Given the description of an element on the screen output the (x, y) to click on. 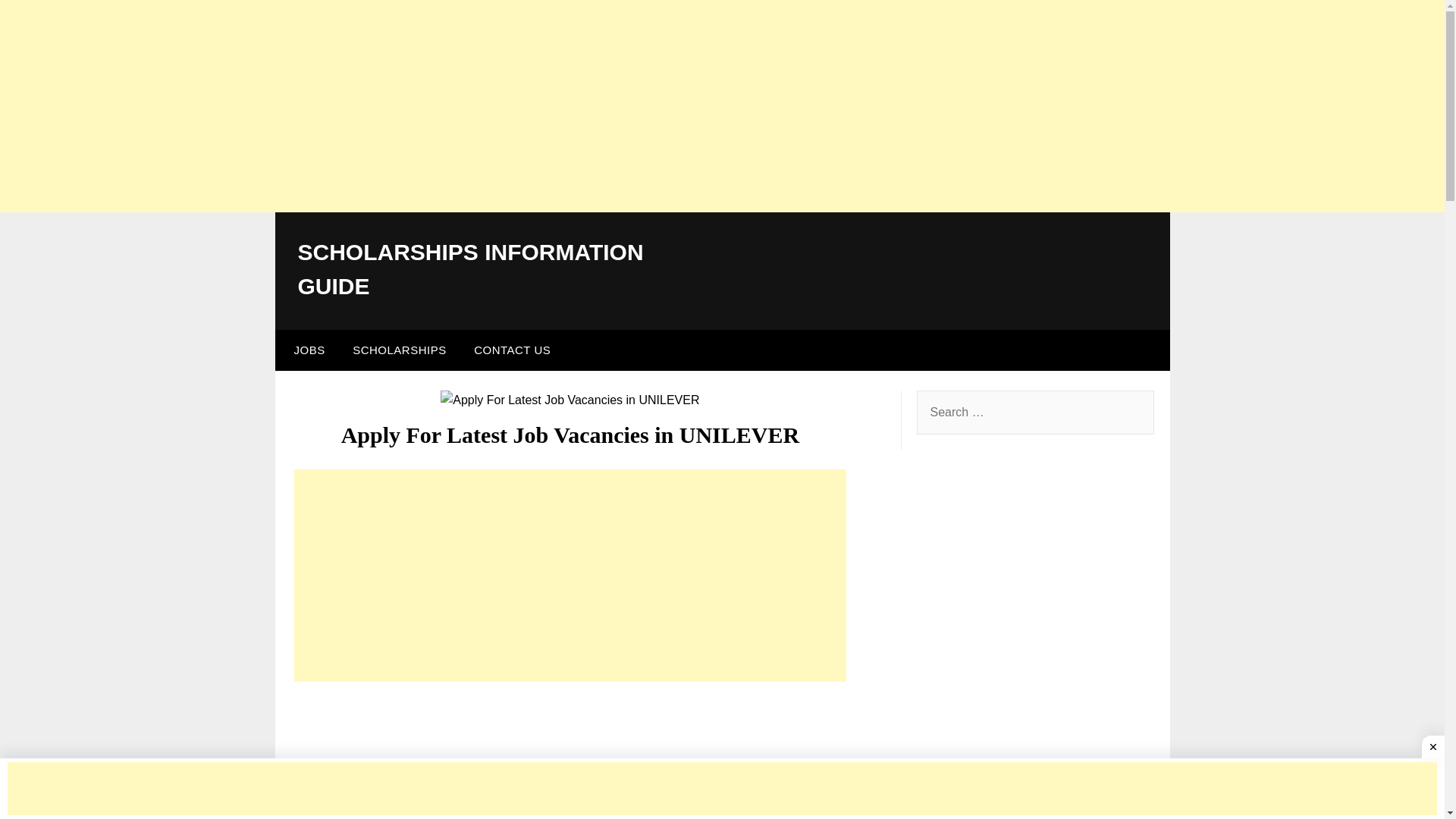
CONTACT US (511, 350)
SCHOLARSHIPS (399, 350)
Advertisement (722, 788)
Advertisement (570, 753)
Search (38, 22)
SCHOLARSHIPS INFORMATION GUIDE (470, 268)
Advertisement (570, 575)
JOBS (305, 350)
